Given the description of an element on the screen output the (x, y) to click on. 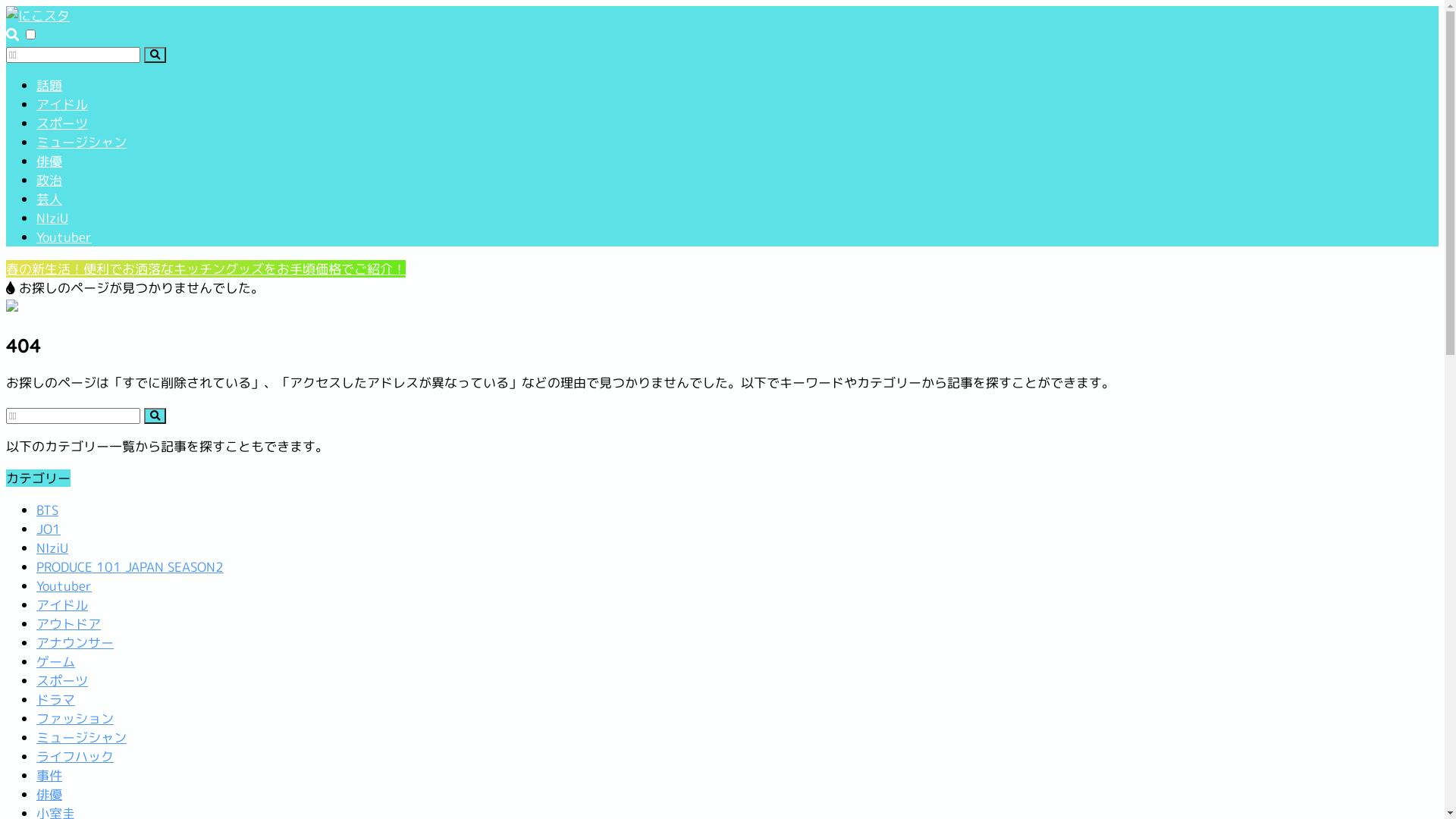
JO1 Element type: text (48, 528)
NIziU Element type: text (52, 547)
BTS Element type: text (47, 509)
PRODUCE 101 JAPAN SEASON2 Element type: text (129, 566)
NIziU Element type: text (52, 217)
Youtuber Element type: text (63, 585)
on Element type: text (30, 34)
Youtuber Element type: text (63, 236)
